Given the description of an element on the screen output the (x, y) to click on. 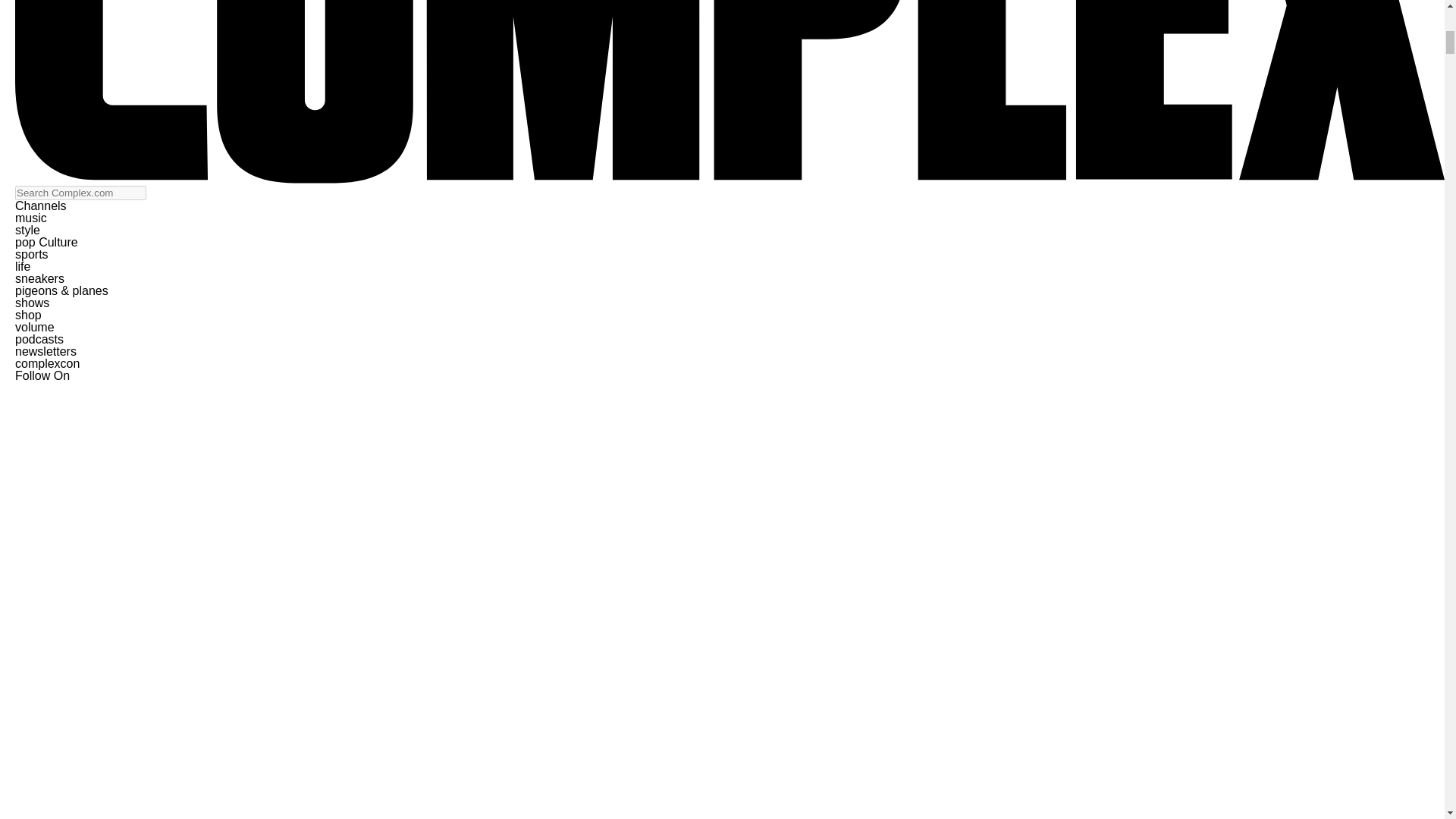
life (22, 266)
newsletters (45, 350)
sports (31, 254)
sneakers (39, 278)
shop (28, 314)
style (27, 229)
podcasts (39, 338)
music (30, 217)
shows (31, 302)
volume (34, 327)
pop Culture (46, 241)
complexcon (47, 363)
